Given the description of an element on the screen output the (x, y) to click on. 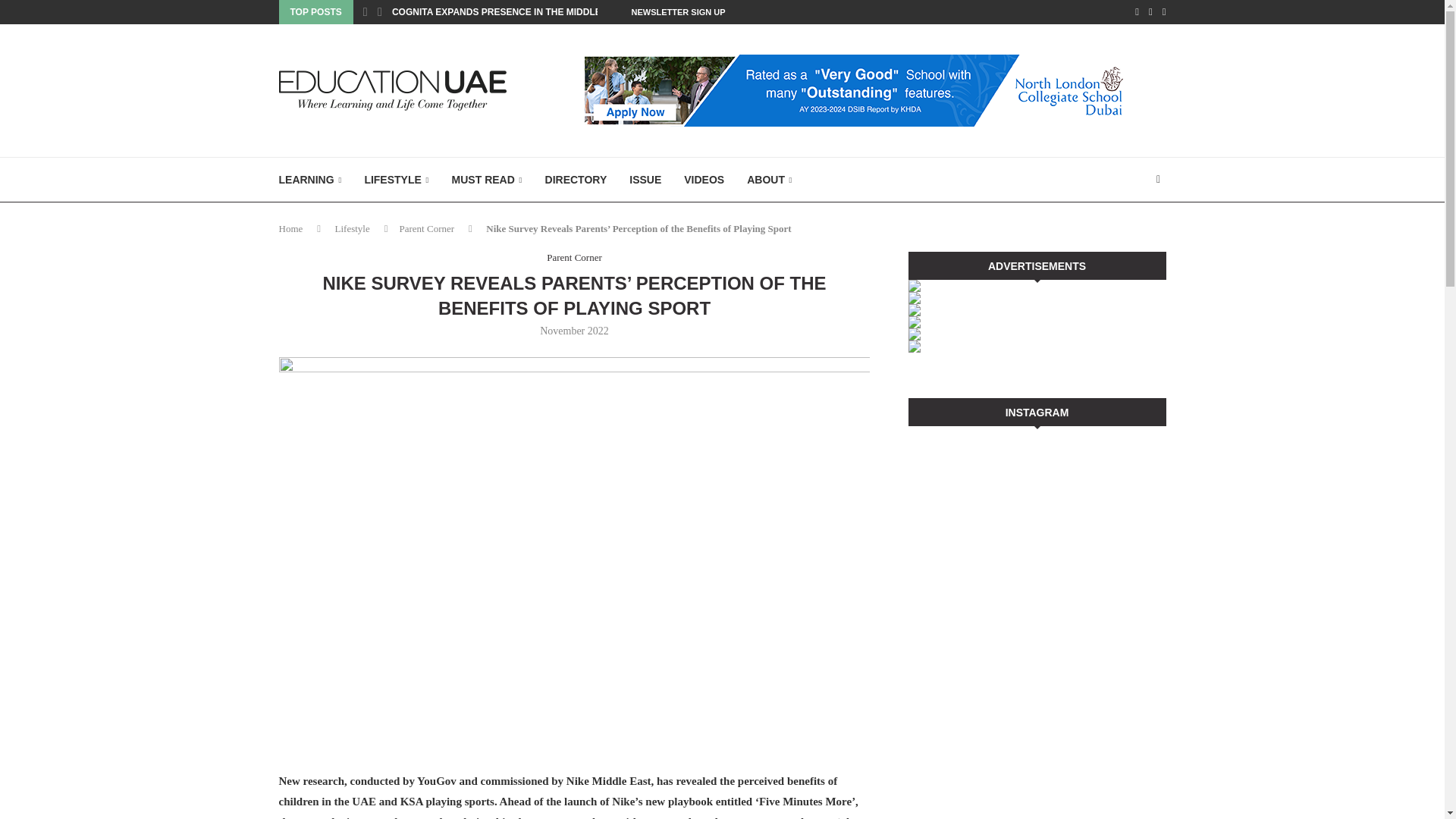
LIFESTYLE (396, 180)
LEARNING (310, 180)
COGNITA EXPANDS PRESENCE IN THE MIDDLE EAST BY... (520, 12)
NEWSLETTER SIGN UP (678, 12)
